Given the description of an element on the screen output the (x, y) to click on. 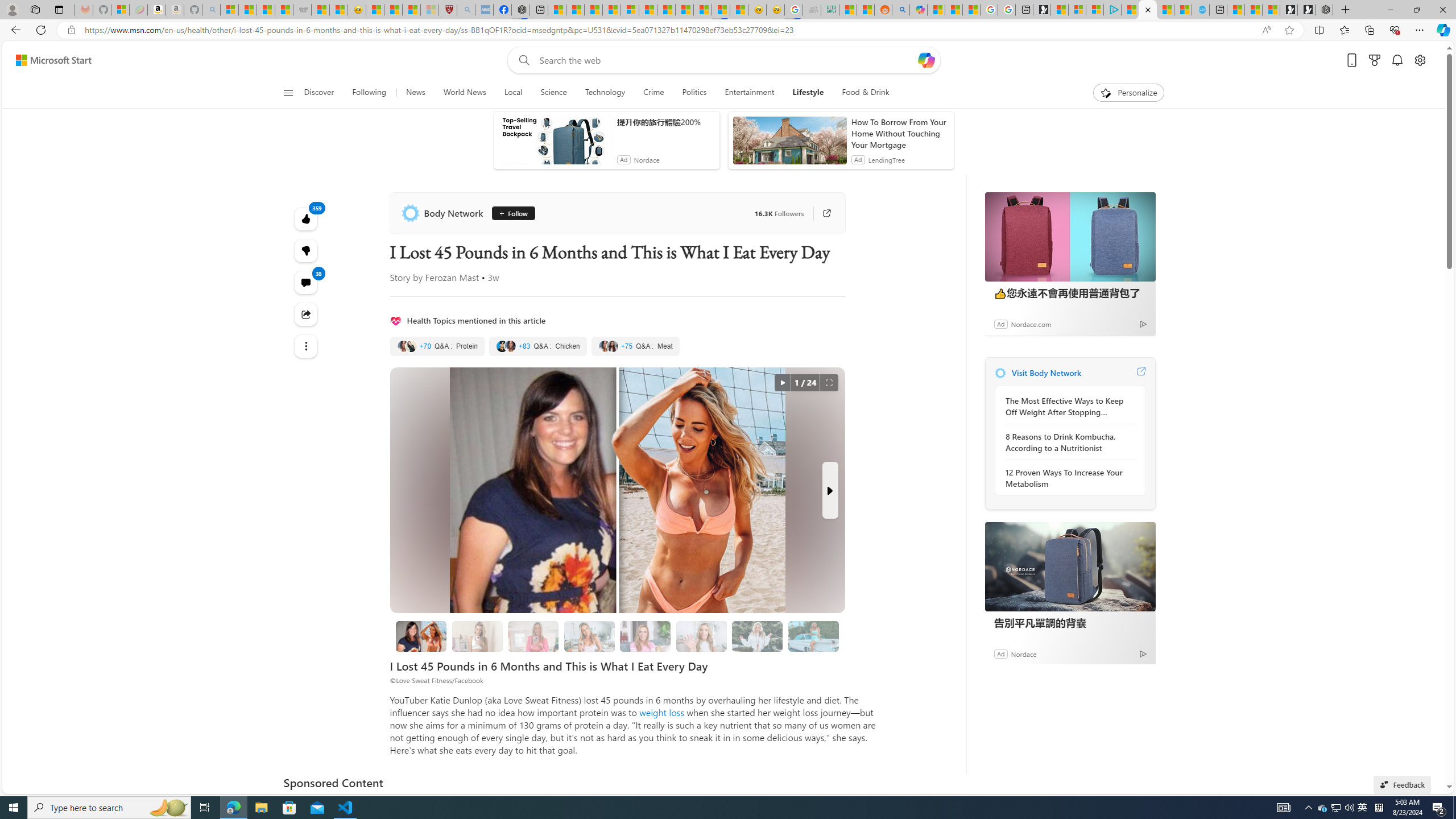
8 I Stopped Comparing Myself to Others (813, 636)
Next Slide (829, 489)
